Given the description of an element on the screen output the (x, y) to click on. 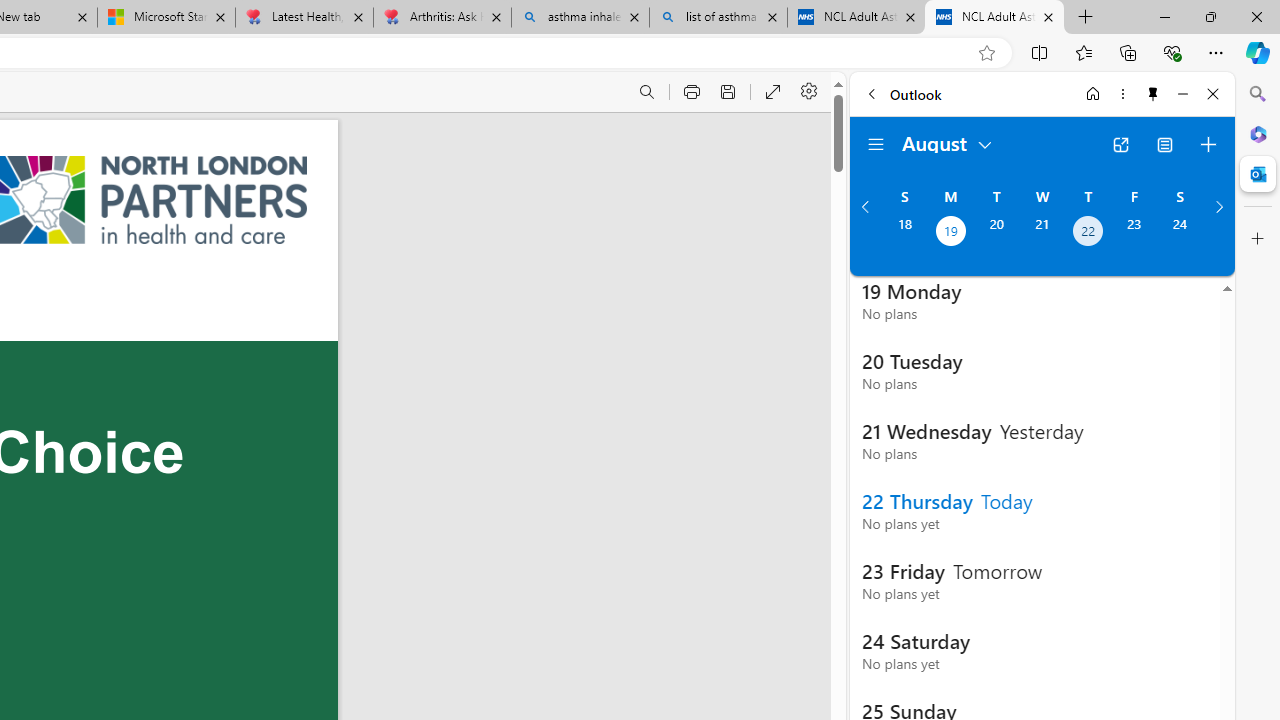
Friday, August 23, 2024.  (1134, 233)
Tuesday, August 20, 2024.  (996, 233)
asthma inhaler - Search (580, 17)
